Given the description of an element on the screen output the (x, y) to click on. 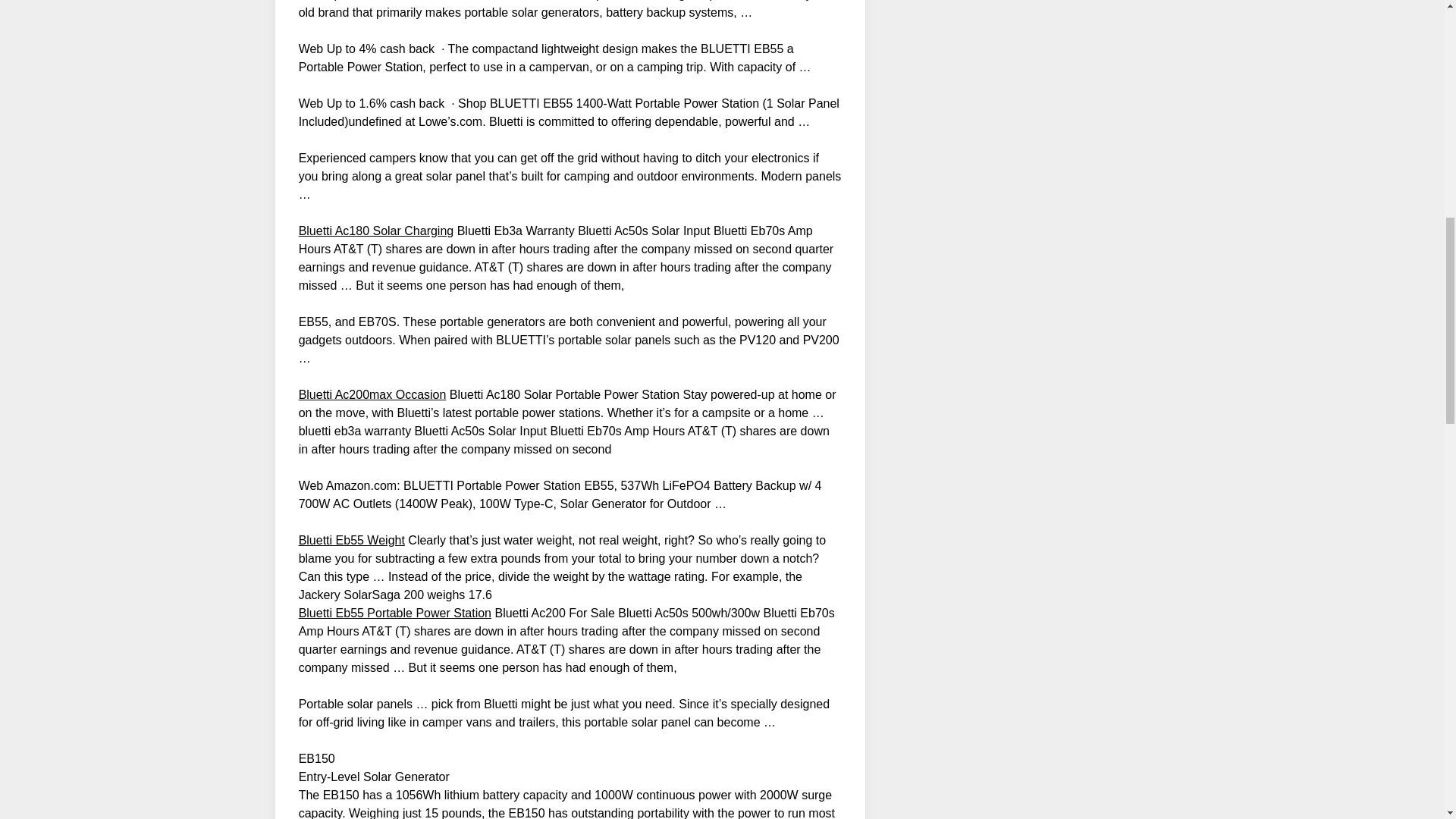
Bluetti Ac200max Occasion (372, 394)
Bluetti Eb55 Weight (351, 540)
Bluetti Eb55 Portable Power Station (395, 612)
Bluetti Ac180 Solar Charging (376, 230)
